Given the description of an element on the screen output the (x, y) to click on. 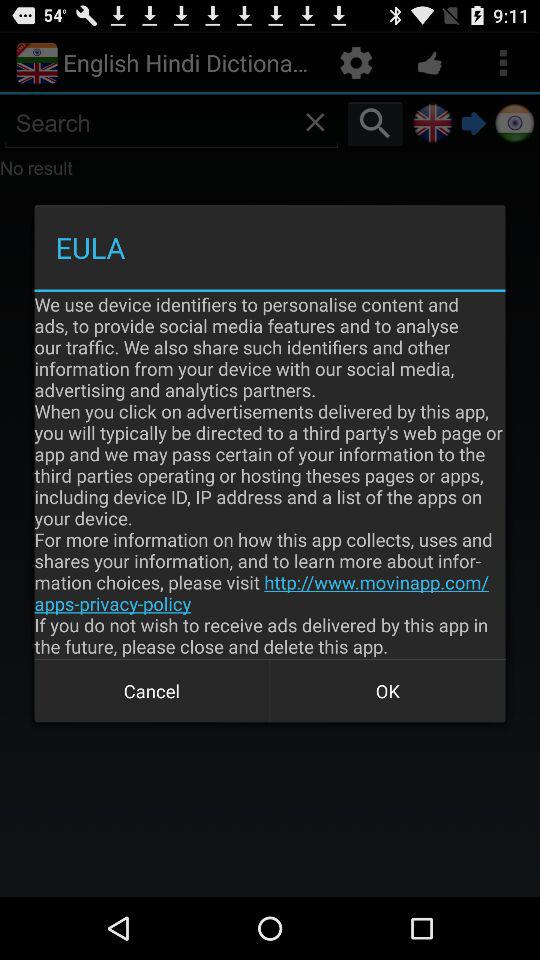
press the item below the we use device (387, 690)
